Given the description of an element on the screen output the (x, y) to click on. 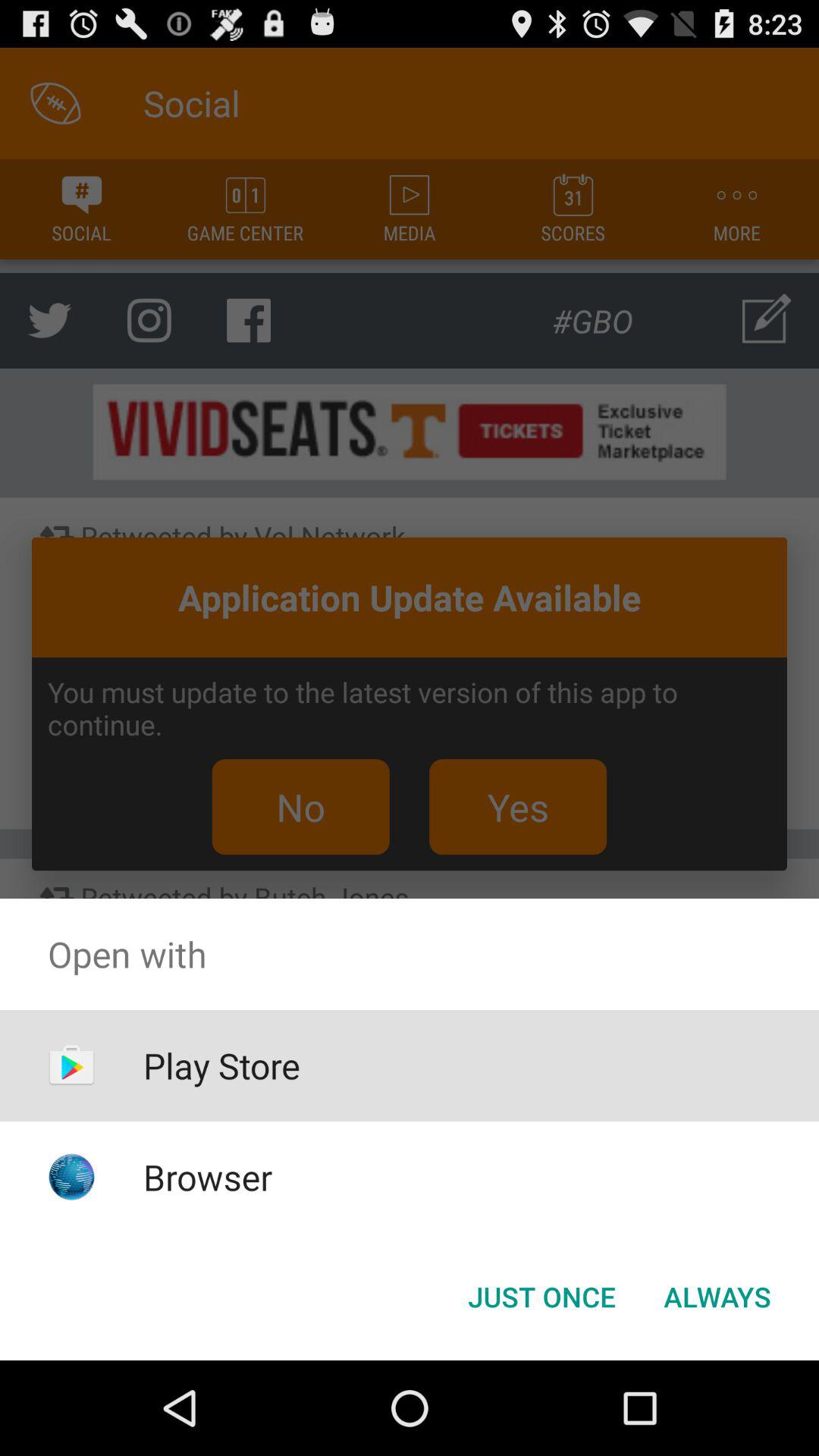
turn on the icon below the open with icon (541, 1296)
